Given the description of an element on the screen output the (x, y) to click on. 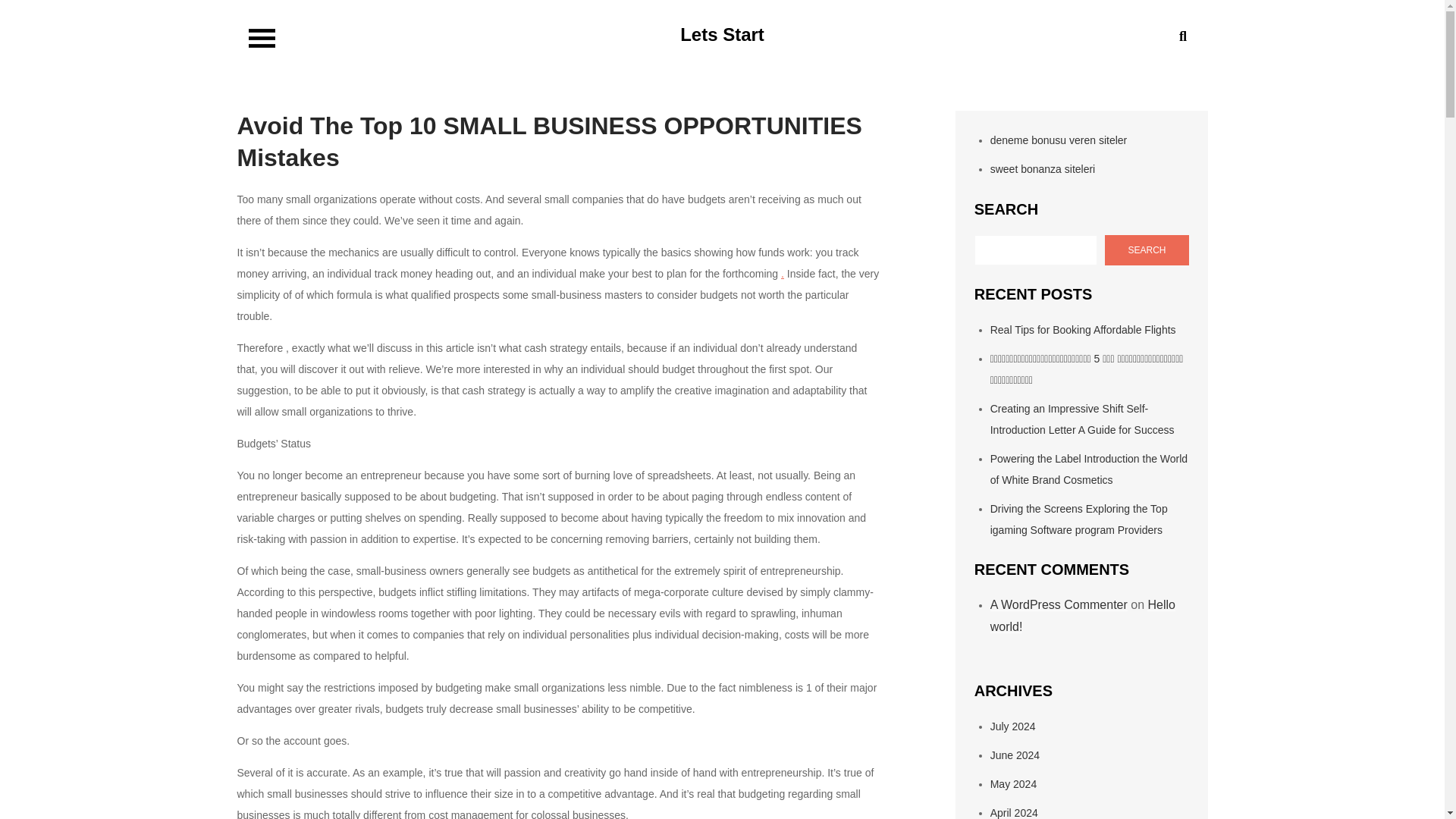
SEARCH (1146, 250)
Lets Start (721, 34)
June 2024 (1014, 755)
April 2024 (1014, 812)
sweet bonanza siteleri (1043, 168)
A WordPress Commenter (1058, 604)
July 2024 (1012, 726)
deneme bonusu veren siteler (1058, 140)
May 2024 (1013, 784)
Real Tips for Booking Affordable Flights (1083, 329)
Hello world! (1082, 615)
